Given the description of an element on the screen output the (x, y) to click on. 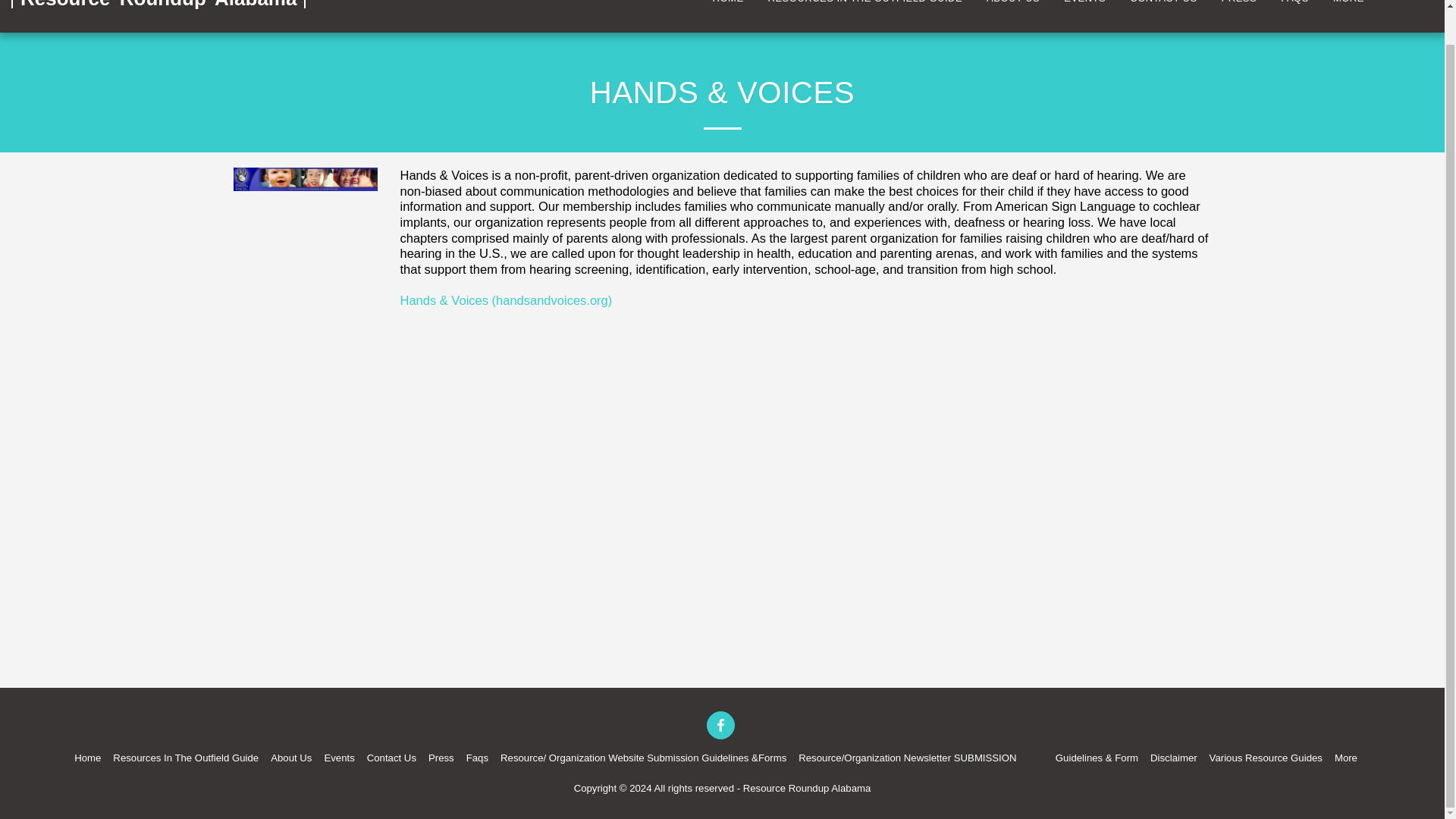
PRESS (1238, 4)
MORE   (1355, 4)
RESOURCES IN THE OUTFIELD GUIDE (865, 4)
EVENTS (1084, 4)
ABOUT US (1013, 4)
CONTACT US (1163, 4)
FAQS (1294, 4)
HOME (728, 4)
Resource Roundup Alabama (158, 16)
